Given the description of an element on the screen output the (x, y) to click on. 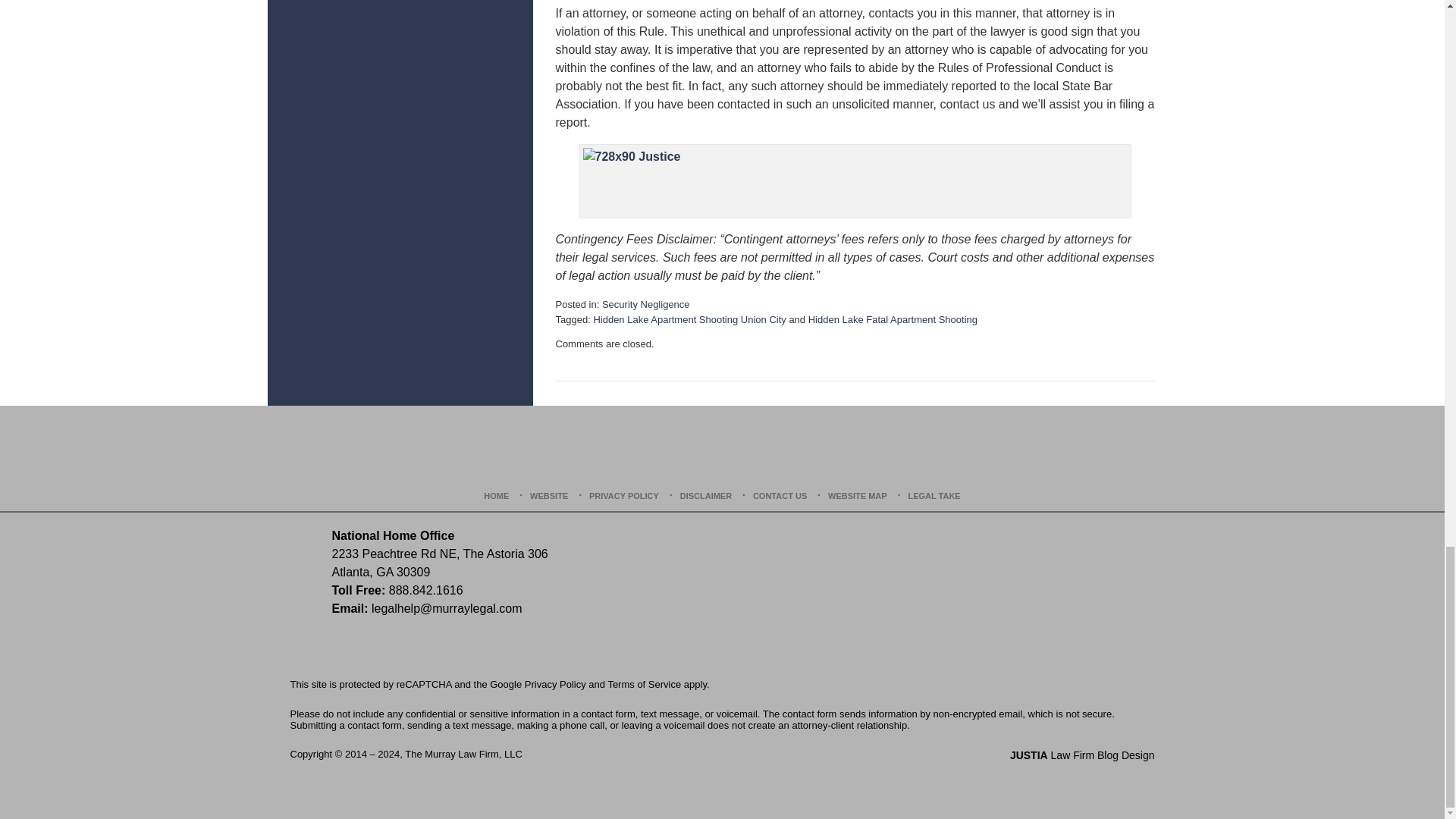
Hidden Lake Fatal Apartment Shooting (892, 319)
Hidden Lake Apartment Shooting Union City (689, 319)
View all posts in Security Negligence (646, 304)
Security Negligence (646, 304)
